Given the description of an element on the screen output the (x, y) to click on. 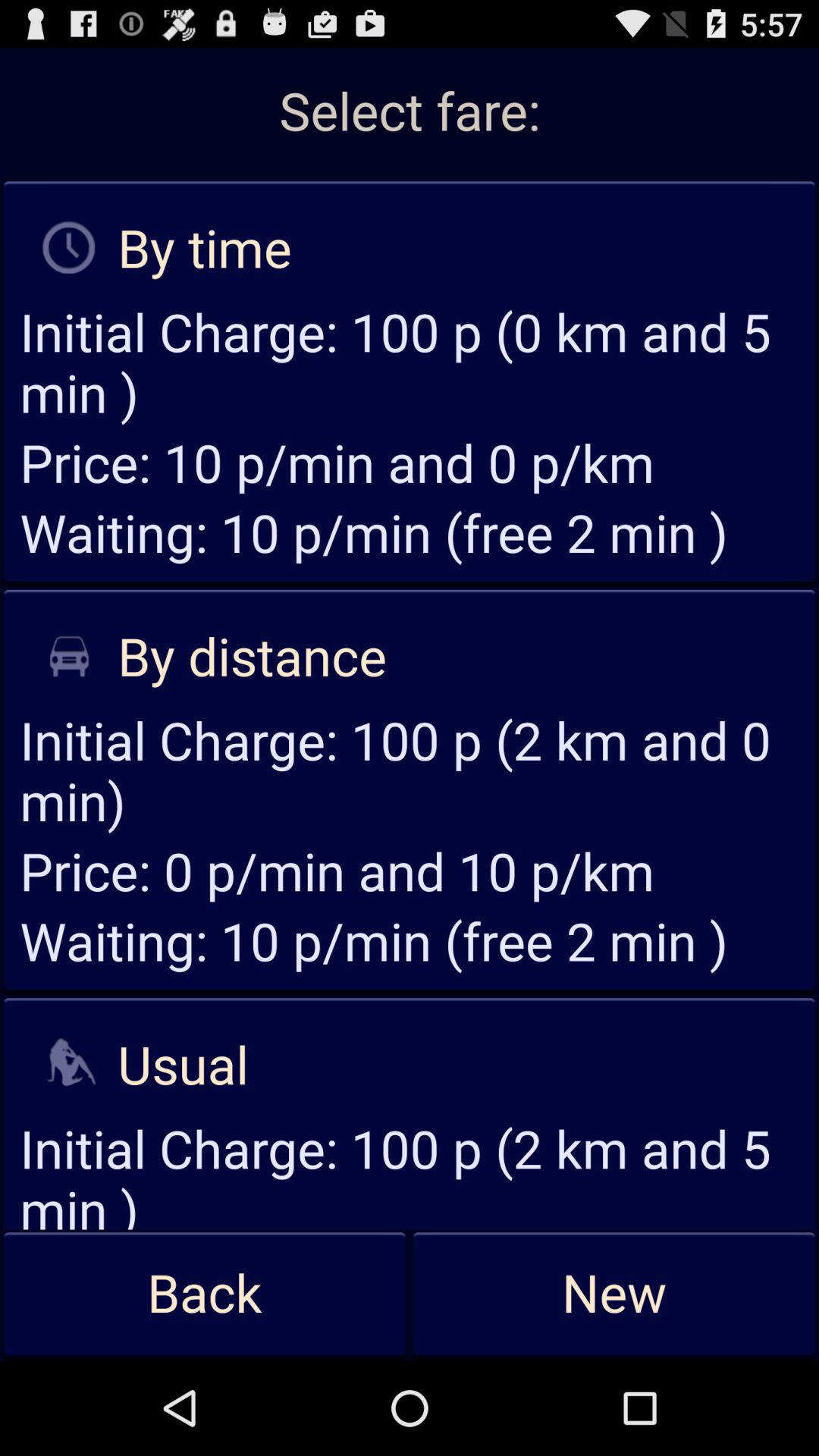
open app to the left of the new icon (204, 1294)
